Given the description of an element on the screen output the (x, y) to click on. 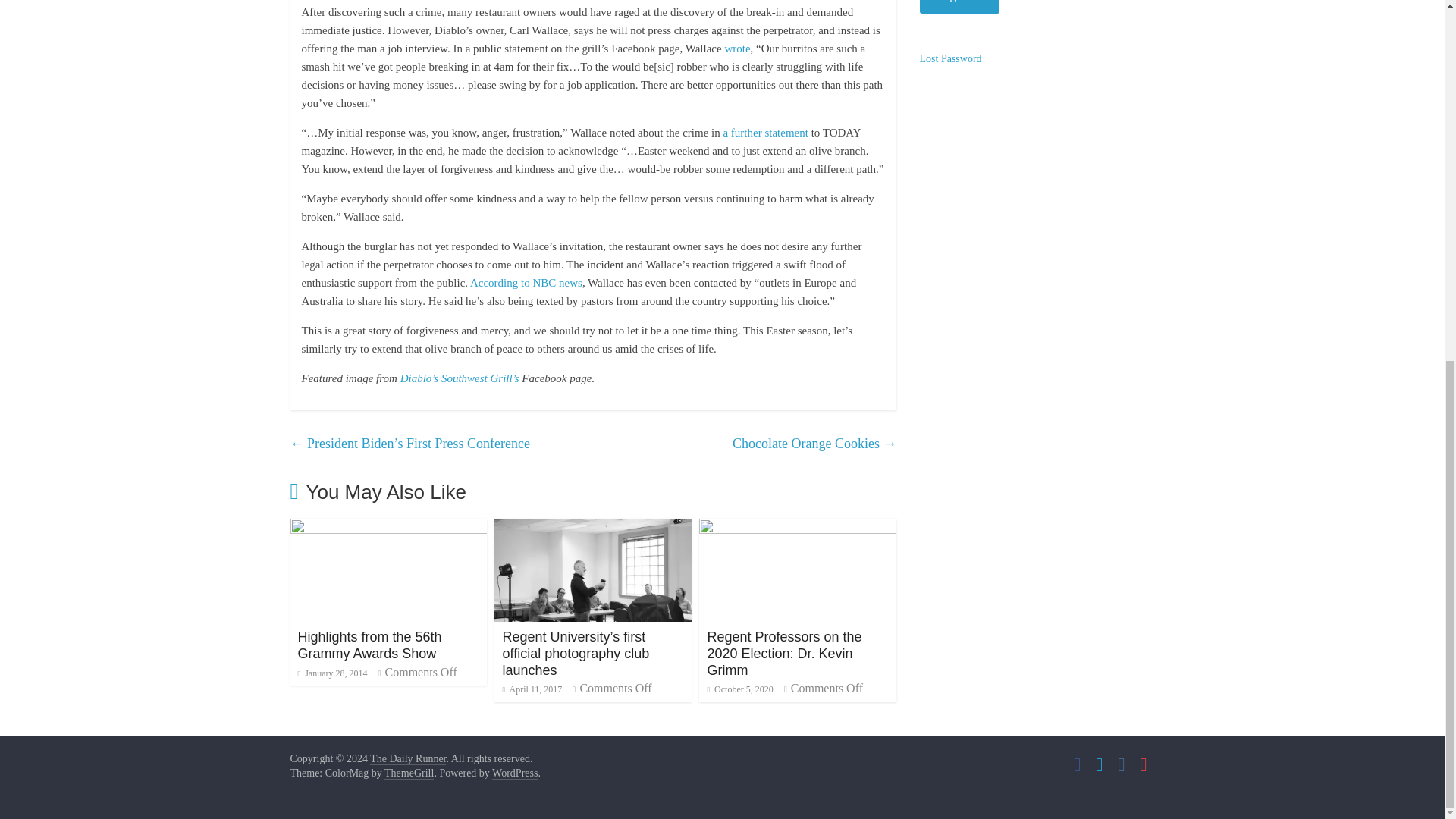
October 5, 2020 (739, 688)
10:43 am (532, 688)
April 11, 2017 (532, 688)
January 28, 2014 (331, 673)
a further statement (764, 132)
Highlights from the 56th Grammy Awards Show (387, 527)
Regent Professors on the 2020 Election: Dr. Kevin Grimm (783, 653)
wrote (736, 48)
Highlights from the 56th Grammy Awards Show (369, 644)
According to NBC news (524, 282)
Highlights from the 56th Grammy Awards Show (369, 644)
5:51 am (331, 673)
